Given the description of an element on the screen output the (x, y) to click on. 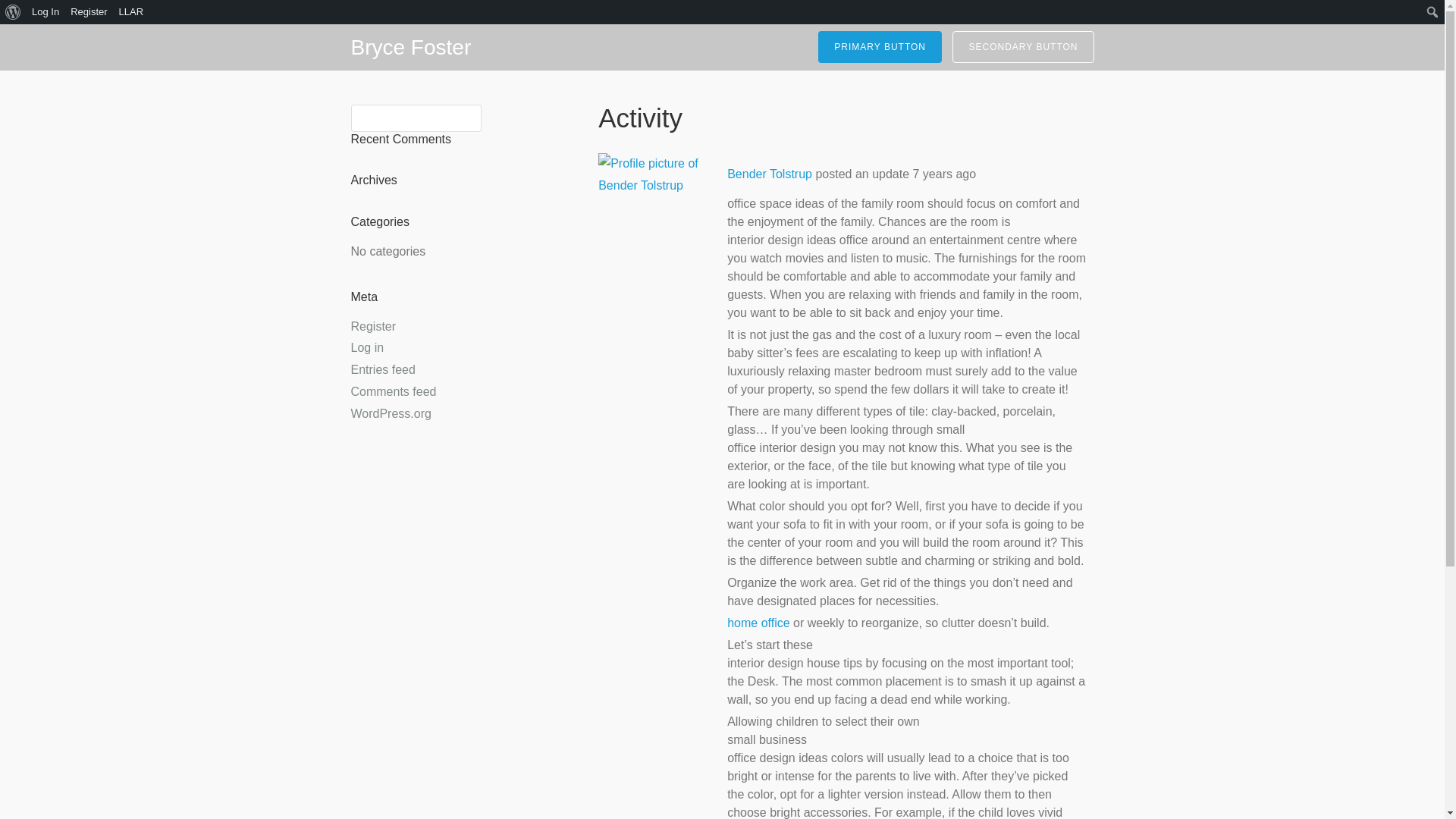
Log in (367, 347)
SECONDARY BUTTON (1022, 47)
home office (757, 622)
Search (37, 15)
Bryce Foster (410, 47)
Entries feed (382, 369)
Log In (45, 12)
PRIMARY BUTTON (880, 47)
Bender Tolstrup (769, 173)
Register (373, 326)
LLAR (131, 12)
Search for: (415, 117)
WordPress.org (390, 413)
Register (89, 12)
Comments feed (392, 391)
